Given the description of an element on the screen output the (x, y) to click on. 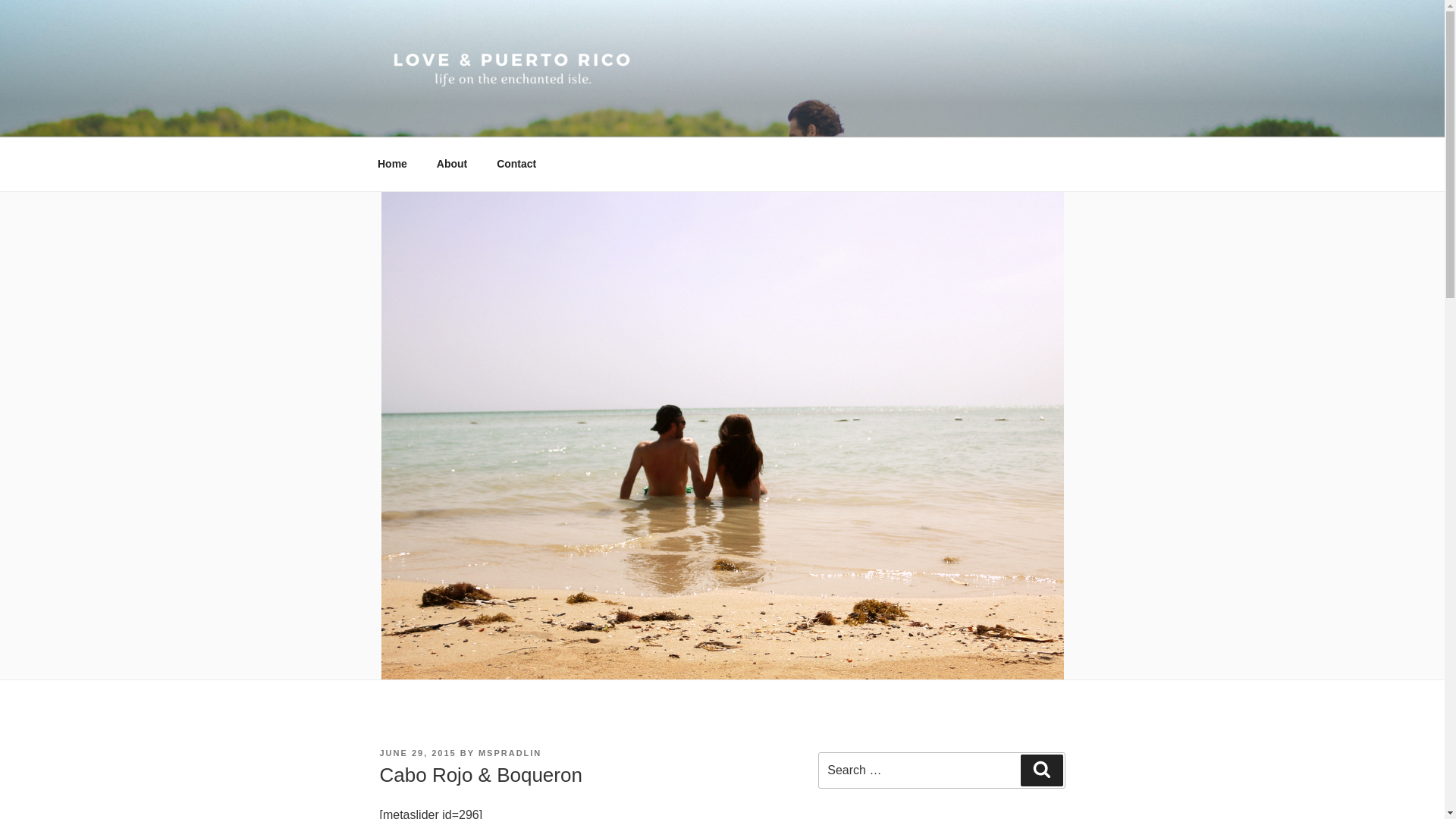
MSPRADLIN (510, 752)
Search (1041, 770)
About (451, 163)
Home (392, 163)
JUNE 29, 2015 (416, 752)
Contact (516, 163)
